Given the description of an element on the screen output the (x, y) to click on. 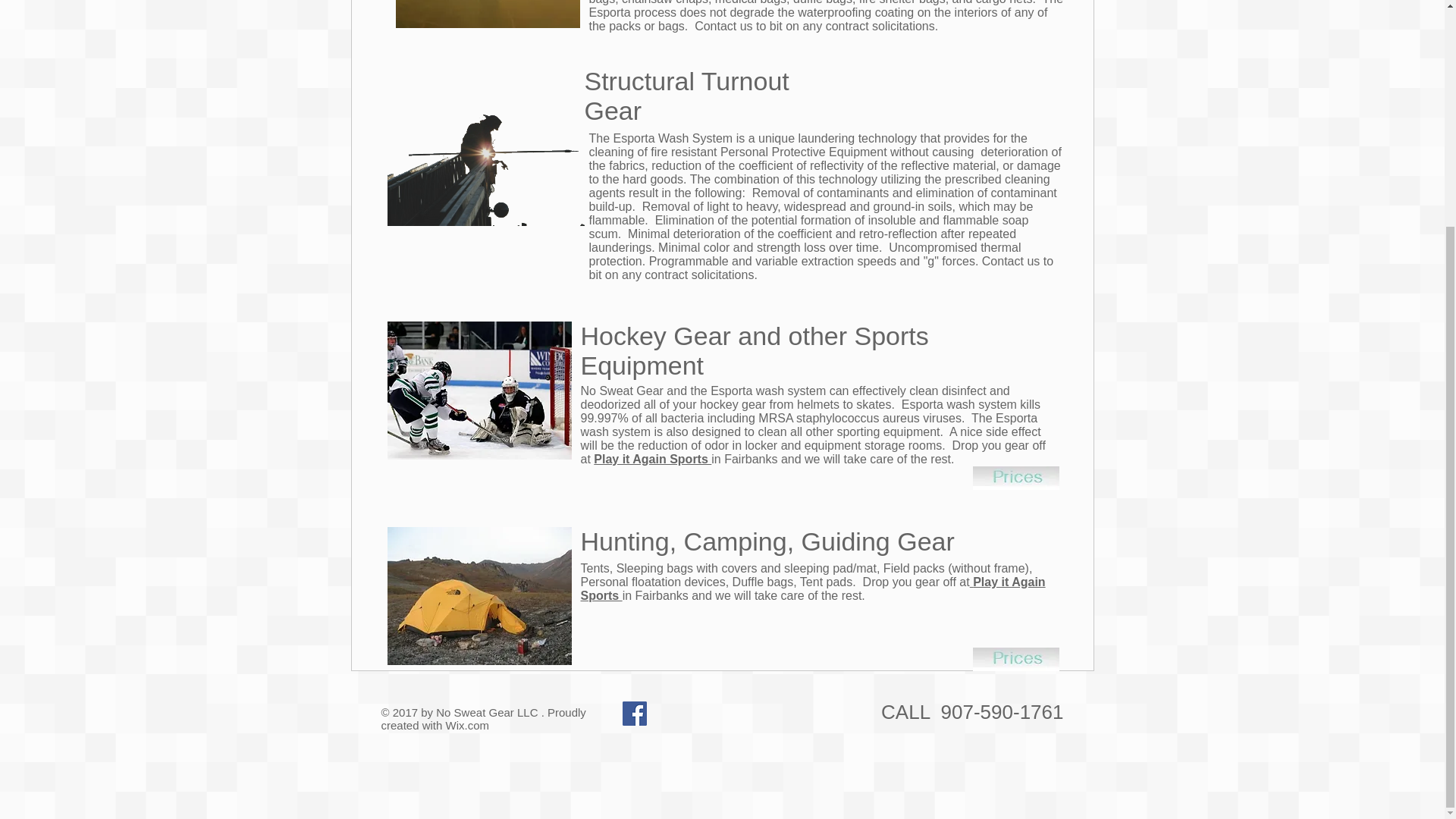
Wix.com (467, 725)
Play it Again Sports (652, 459)
Play it Again Sports (812, 588)
